Given the description of an element on the screen output the (x, y) to click on. 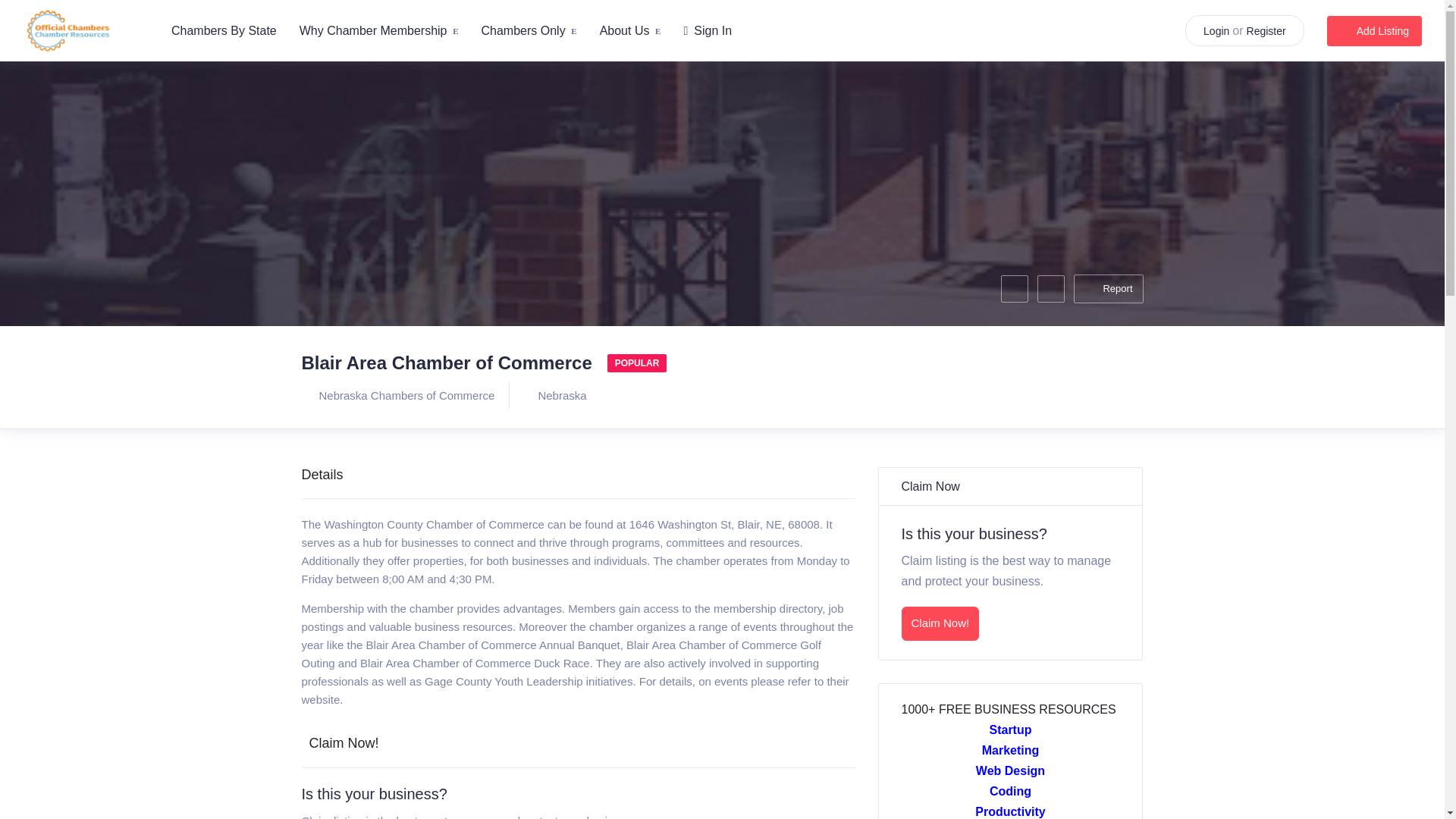
About Us (630, 30)
Why Chamber Membership (378, 30)
Chambers By State (223, 30)
Chambers Only (528, 30)
